Given the description of an element on the screen output the (x, y) to click on. 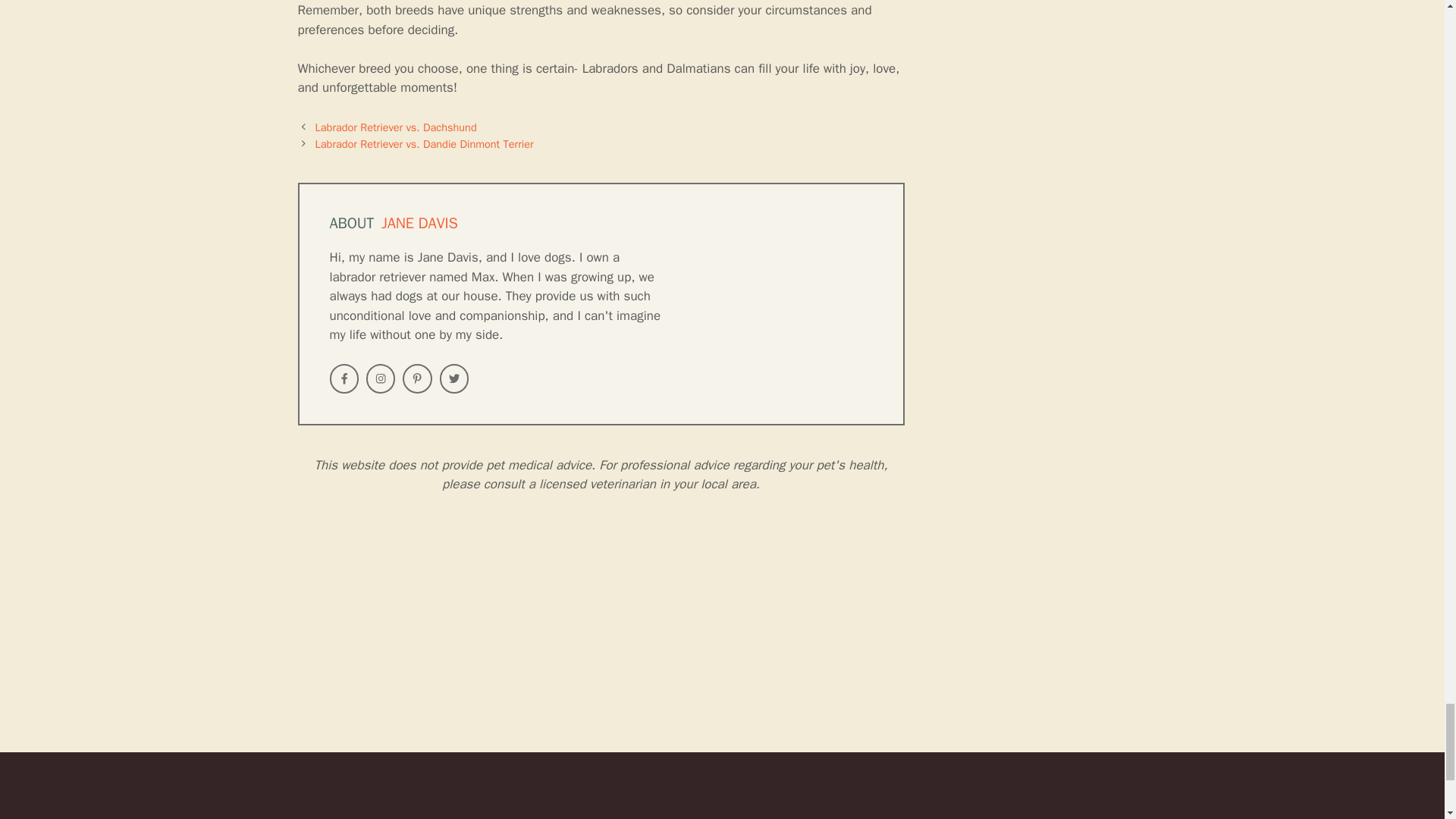
Labrador Retriever vs. Dandie Dinmont Terrier (424, 143)
Baby and labrador retriever outside (144, 638)
elisa-kennemer-0TdrHK0po7I-unsplash (433, 638)
JANE DAVIS (419, 222)
Brown Lab pinkish nose (722, 638)
Labrador Retriever vs. Dachshund (396, 127)
